Given the description of an element on the screen output the (x, y) to click on. 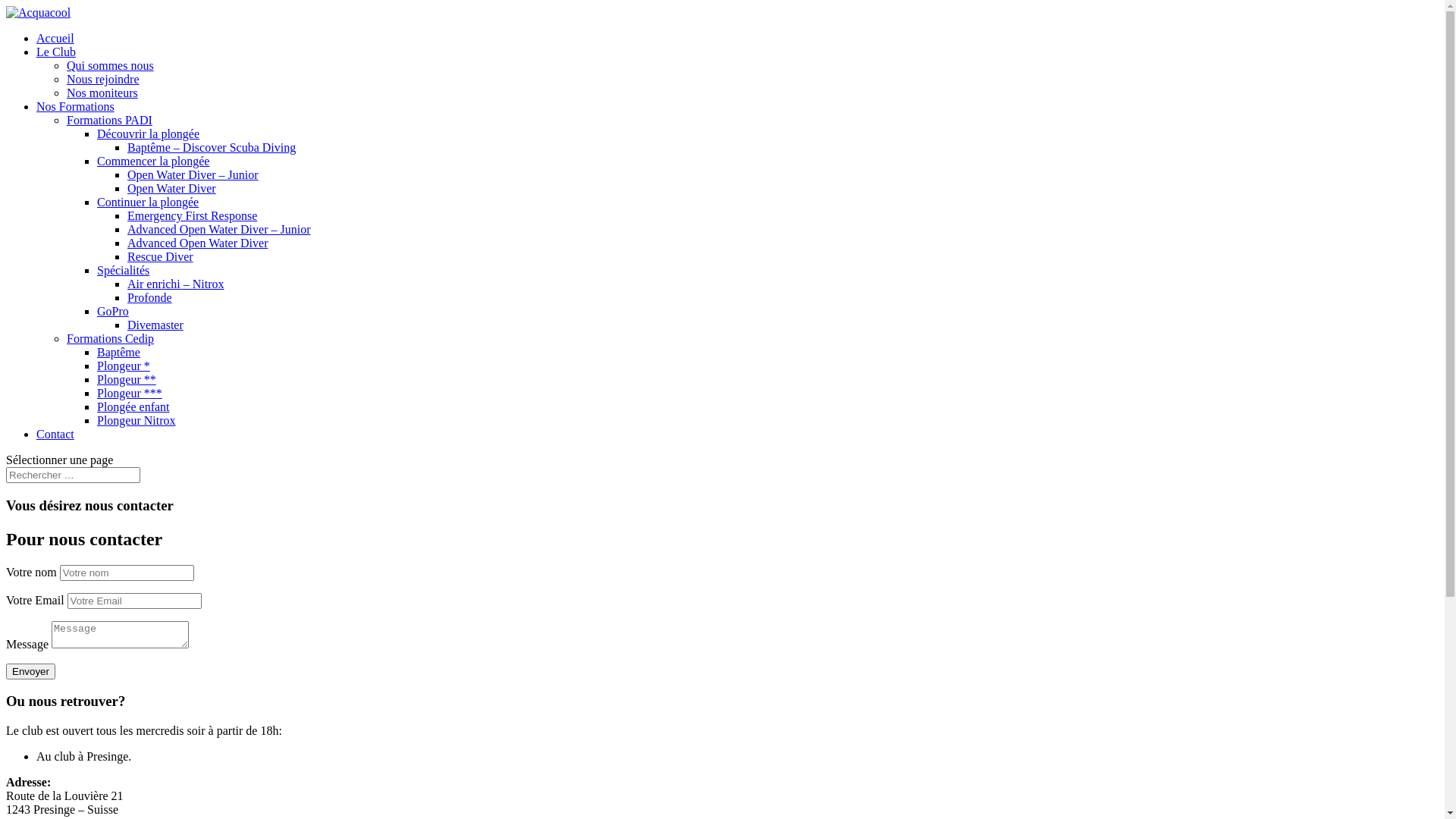
Open Water Diver Element type: text (171, 188)
Nos moniteurs Element type: text (102, 92)
Rescue Diver Element type: text (160, 256)
Envoyer Element type: text (30, 671)
Plongeur * Element type: text (123, 365)
Formations Cedip Element type: text (109, 338)
Nos Formations Element type: text (75, 106)
Nous rejoindre Element type: text (102, 78)
Plongeur *** Element type: text (129, 392)
Plongeur Nitrox Element type: text (136, 420)
Plongeur ** Element type: text (126, 379)
Accueil Element type: text (55, 37)
Divemaster Element type: text (155, 324)
Rechercher: Element type: hover (73, 475)
Formations PADI Element type: text (109, 119)
GoPro Element type: text (112, 310)
Advanced Open Water Diver Element type: text (197, 242)
Contact Element type: text (55, 433)
Emergency First Response Element type: text (192, 215)
Le Club Element type: text (55, 51)
Qui sommes nous Element type: text (109, 65)
Profonde Element type: text (149, 297)
